Given the description of an element on the screen output the (x, y) to click on. 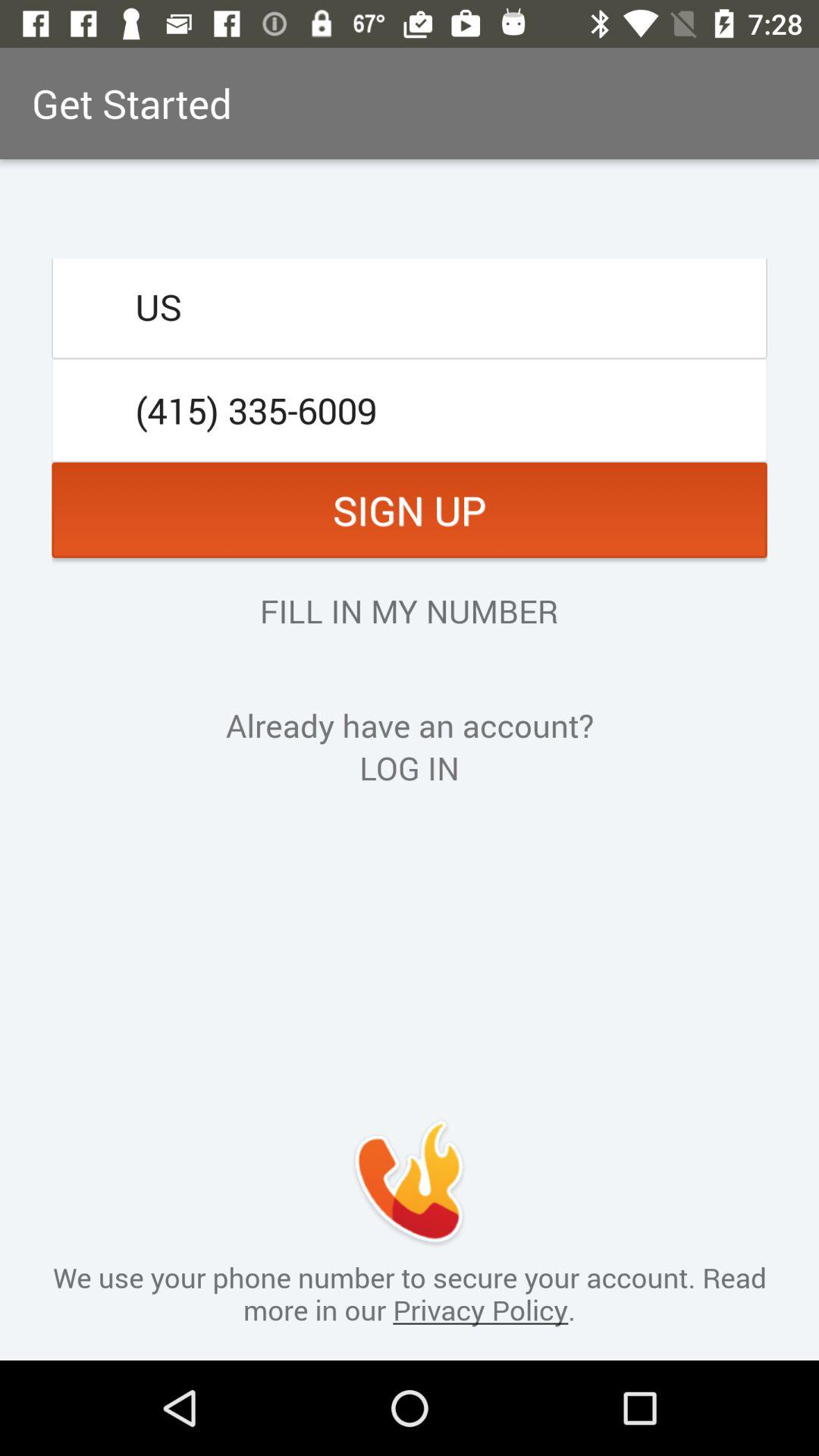
turn off item below the already have an item (409, 767)
